Given the description of an element on the screen output the (x, y) to click on. 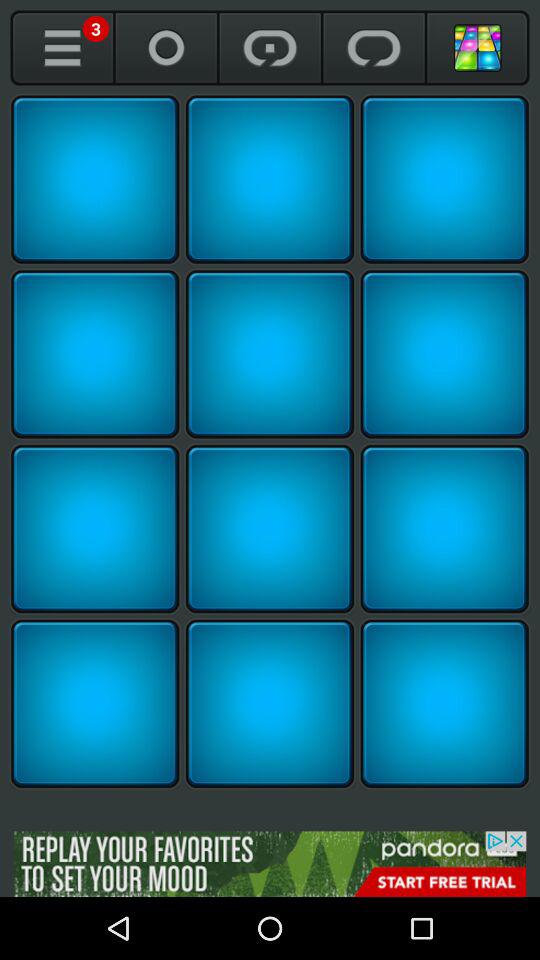
share the article (95, 354)
